Given the description of an element on the screen output the (x, y) to click on. 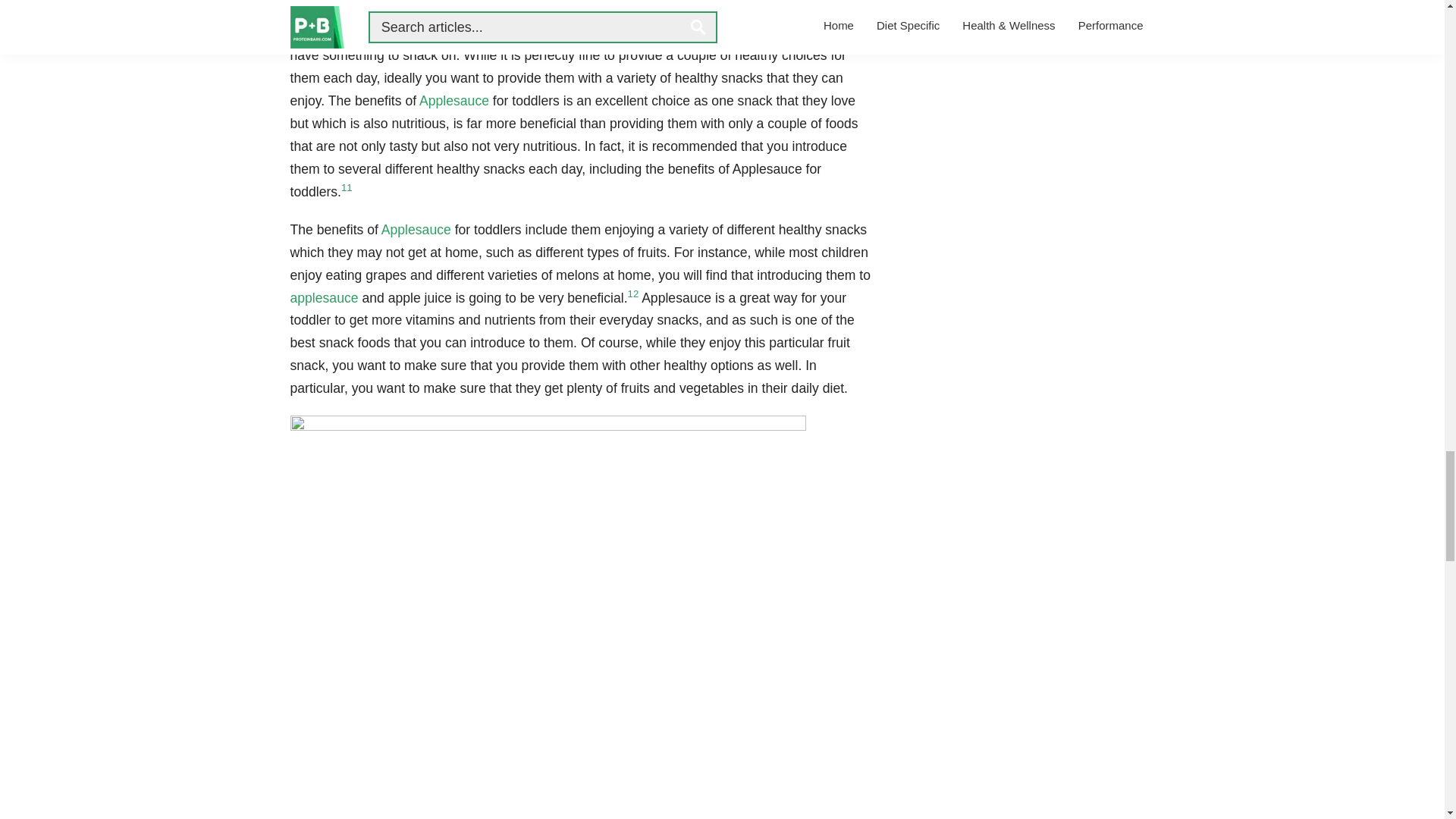
Applesauce (454, 100)
Applesauce (416, 229)
11 (346, 187)
